Given the description of an element on the screen output the (x, y) to click on. 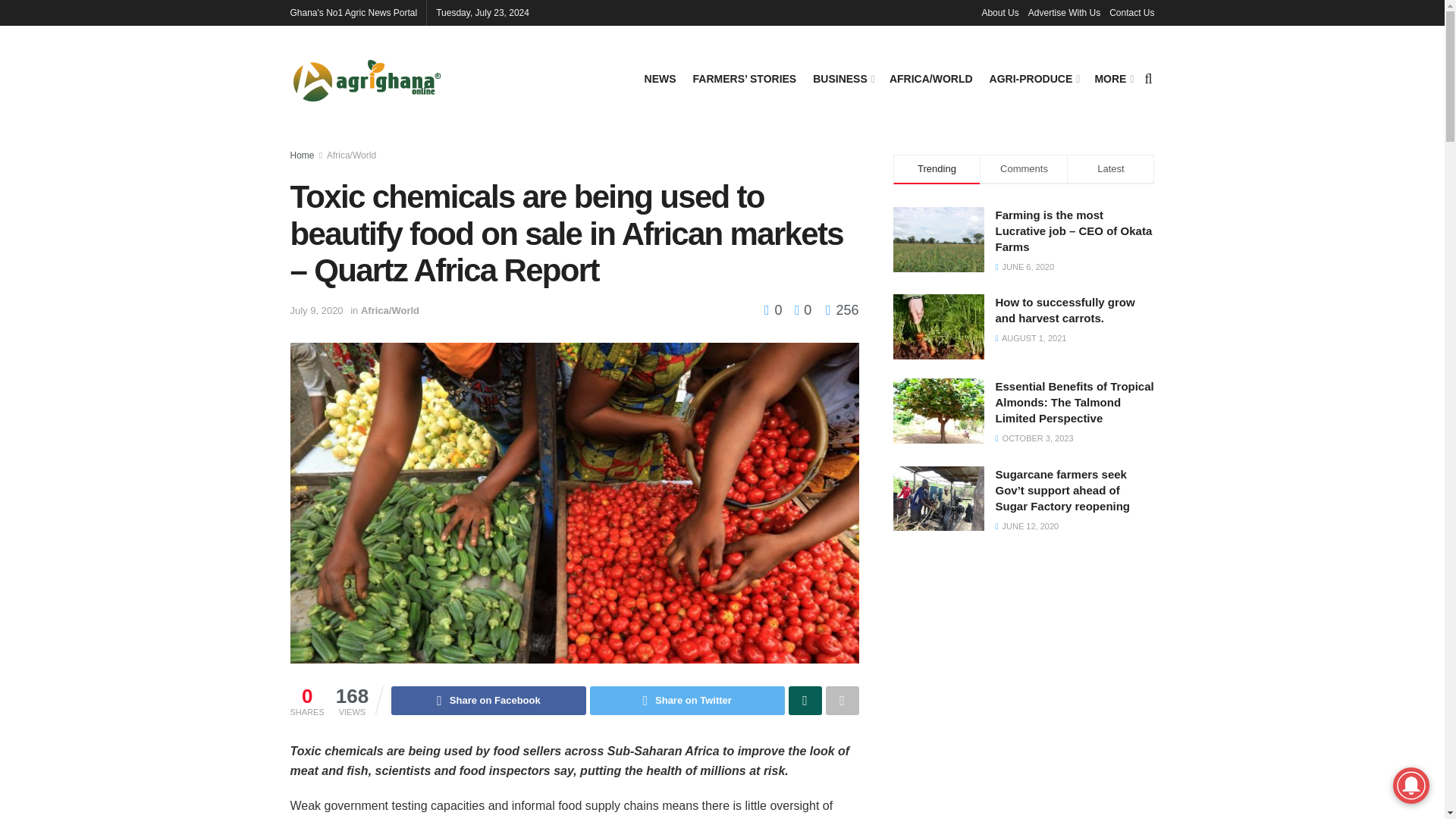
BUSINESS (842, 78)
NEWS (661, 78)
About Us (999, 12)
Advertise With Us (1063, 12)
AGRI-PRODUCE (1034, 78)
Contact Us (1131, 12)
MORE (1112, 78)
